Given the description of an element on the screen output the (x, y) to click on. 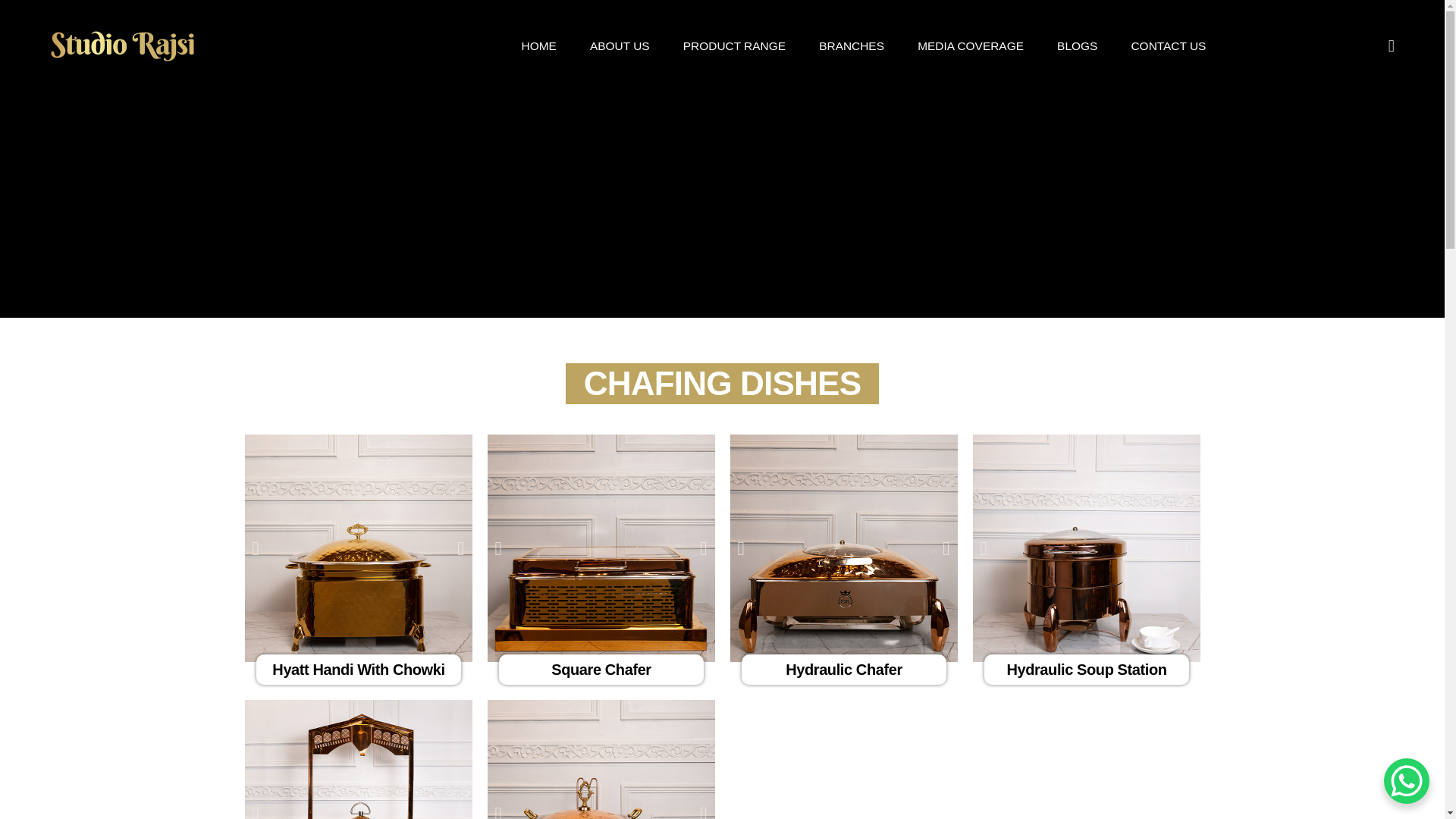
BRANCHES (850, 45)
CONTACT US (1168, 45)
MEDIA COVERAGE (970, 45)
ABOUT US (619, 45)
Square Chafer (600, 669)
HOME (538, 45)
Hyatt Handi With Chowki (358, 669)
BLOGS (1077, 45)
PRODUCT RANGE (734, 45)
